Given the description of an element on the screen output the (x, y) to click on. 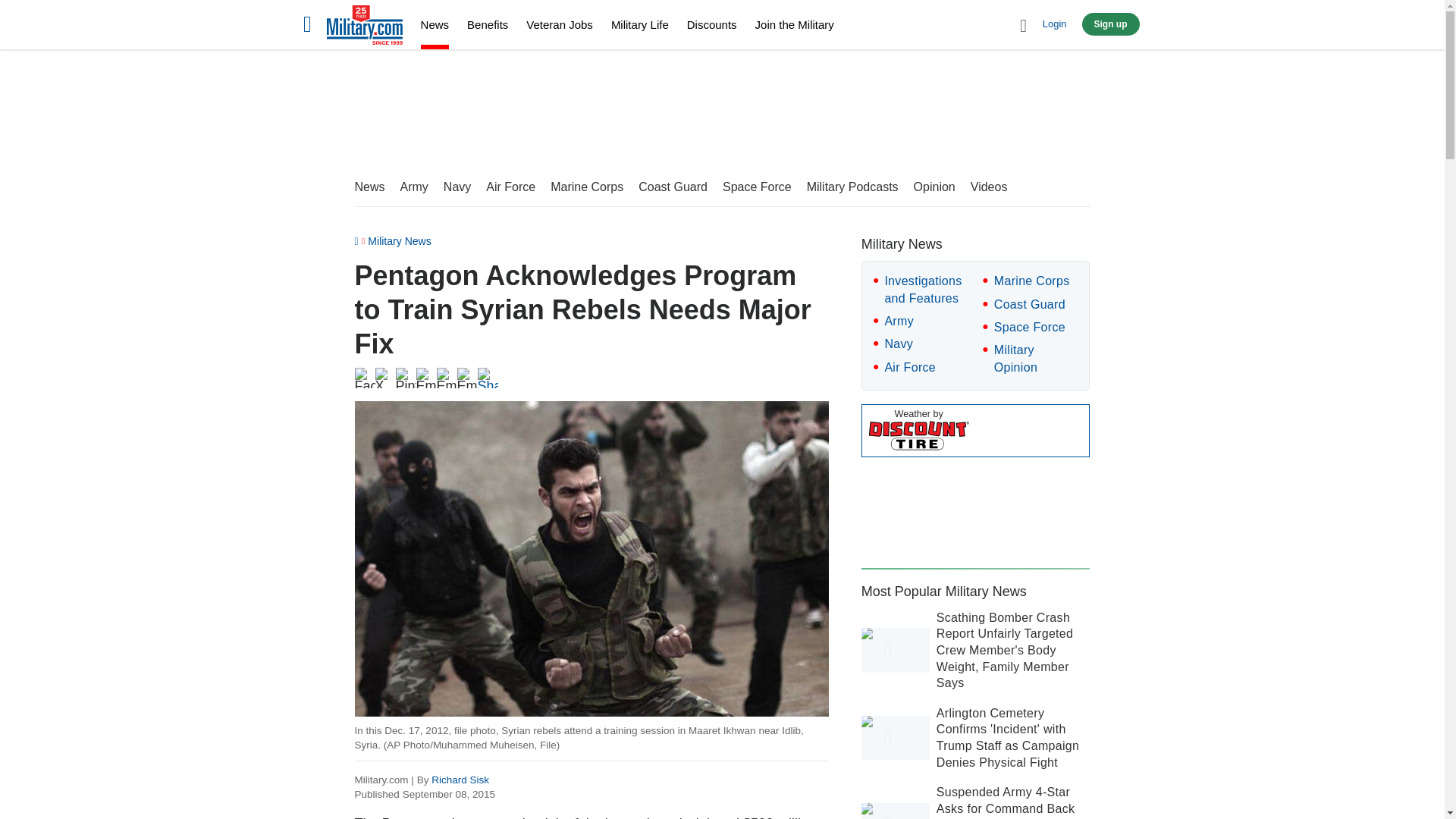
Military Life (639, 24)
Home (364, 27)
Benefits (487, 24)
Veteran Jobs (558, 24)
